Given the description of an element on the screen output the (x, y) to click on. 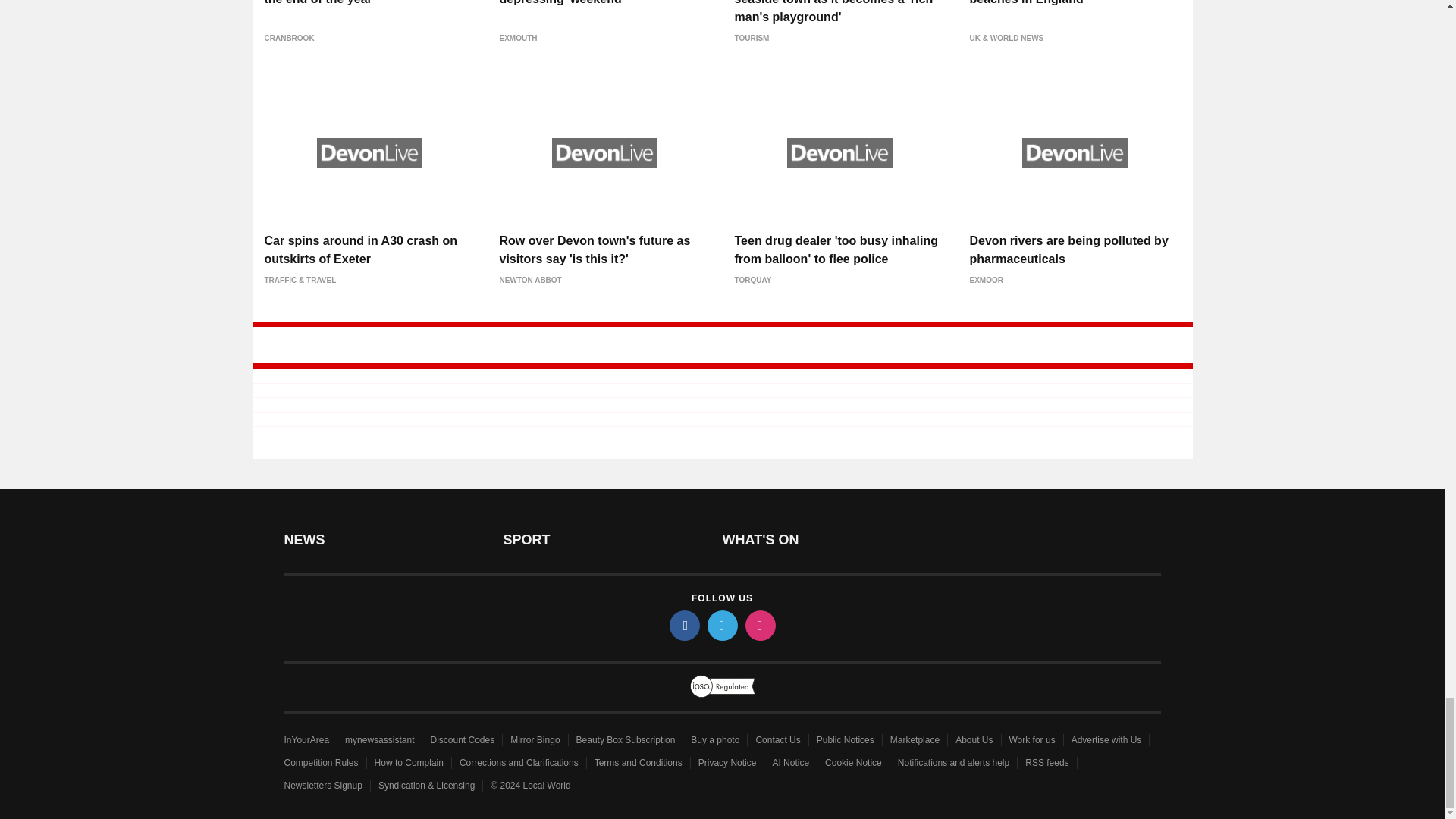
twitter (721, 625)
facebook (683, 625)
instagram (759, 625)
